Given the description of an element on the screen output the (x, y) to click on. 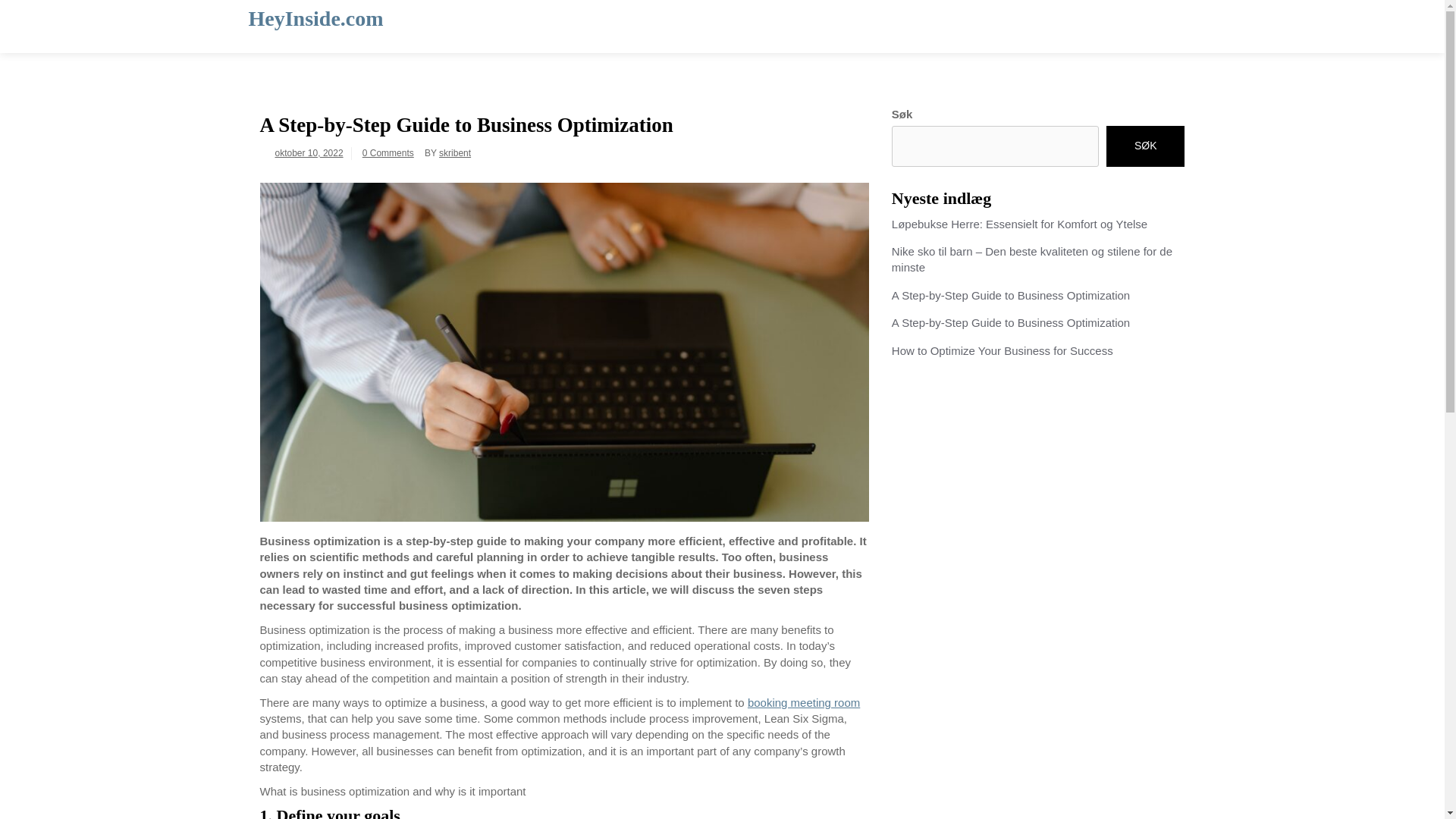
0 Comments (387, 153)
How to Optimize Your Business for Success (1002, 350)
booking meeting room (804, 702)
A Step-by-Step Guide to Business Optimization (1010, 295)
oktober 10, 2022 (308, 153)
skribent (454, 153)
A Step-by-Step Guide to Business Optimization (1010, 322)
HeyInside.com (316, 18)
